Given the description of an element on the screen output the (x, y) to click on. 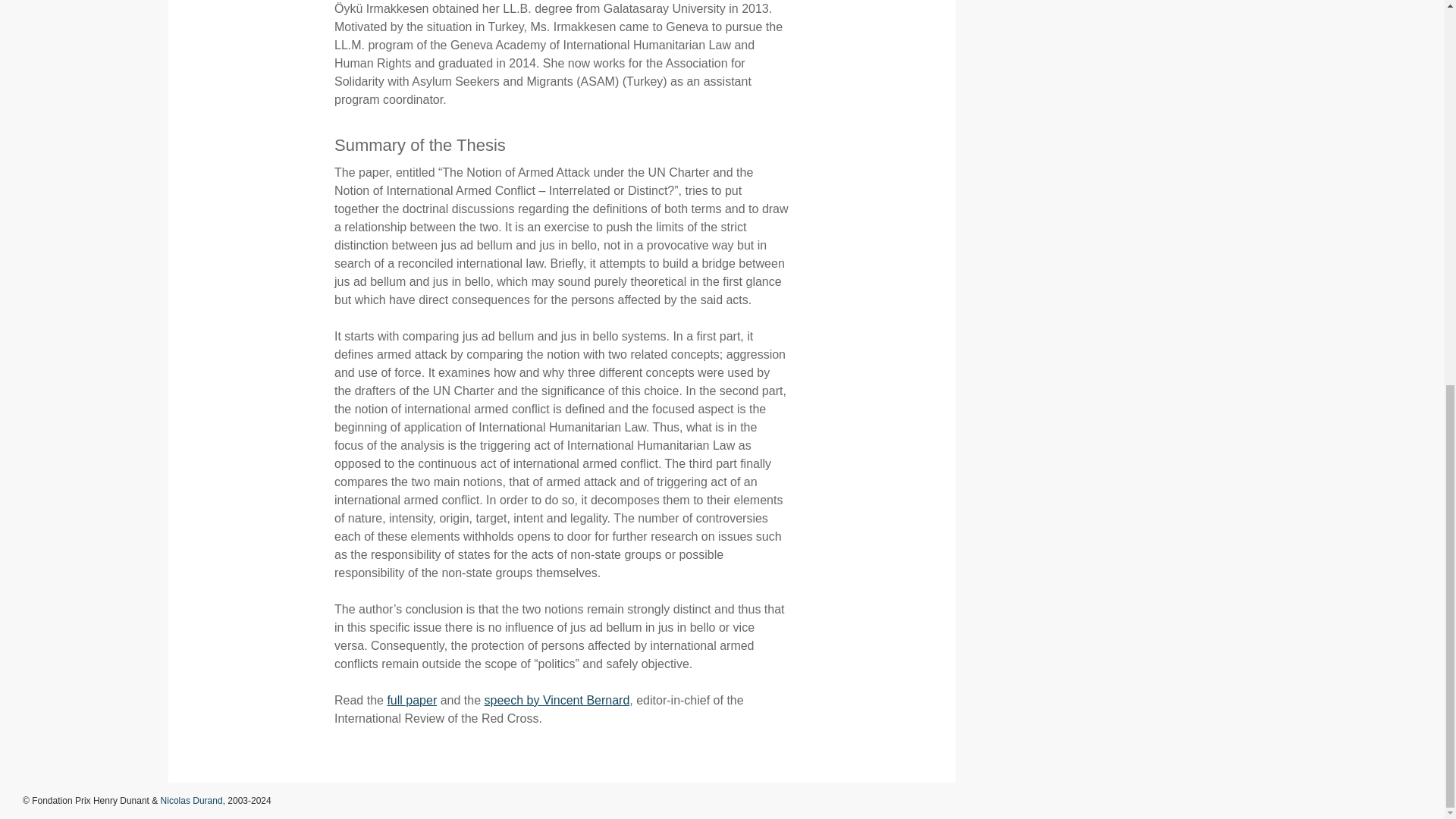
speech by Vincent Bernard (555, 699)
full paper (411, 699)
